Given the description of an element on the screen output the (x, y) to click on. 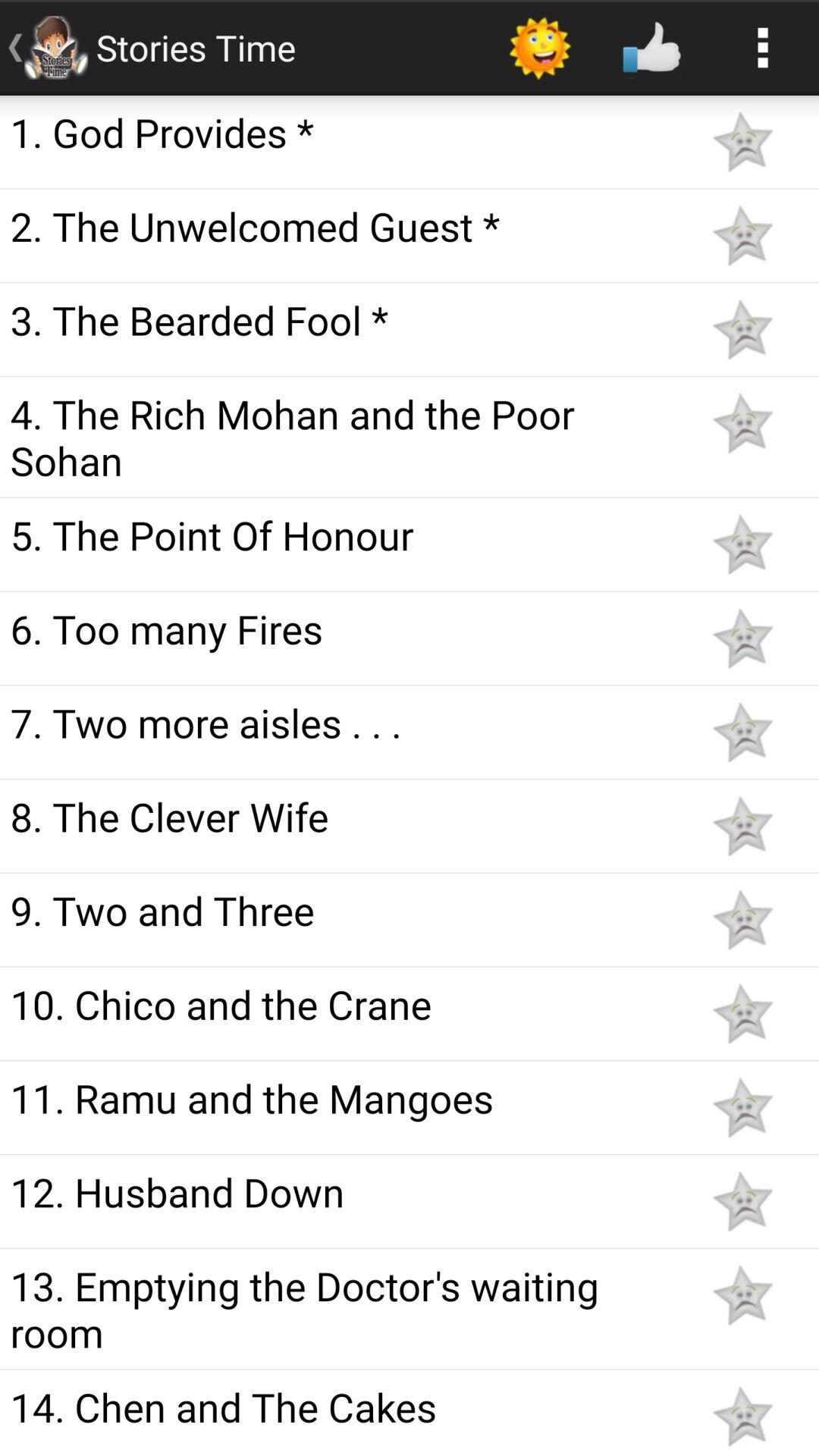
add as bookmark (742, 544)
